Given the description of an element on the screen output the (x, y) to click on. 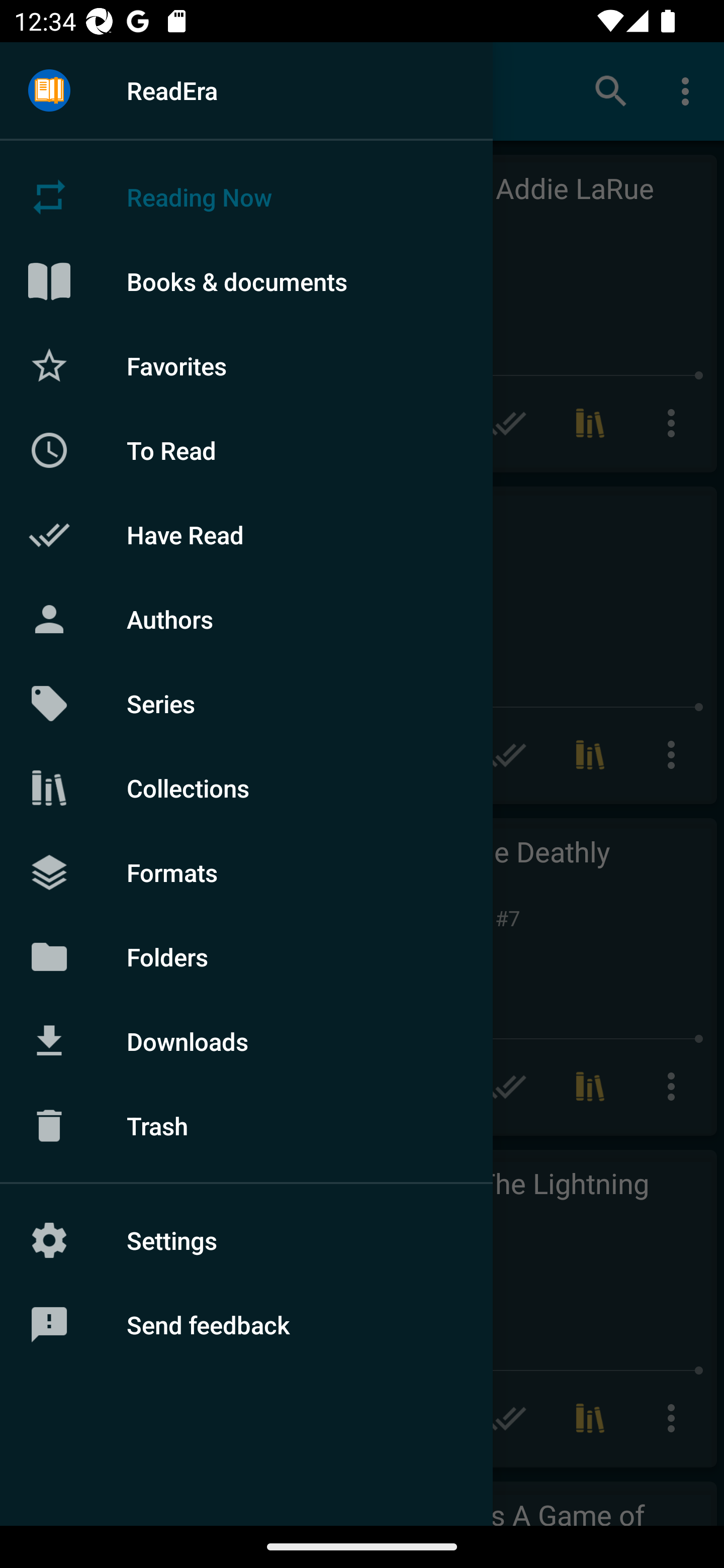
Menu (49, 91)
ReadEra (246, 89)
Search books & documents (611, 90)
More options (688, 90)
Reading Now (246, 197)
Books & documents (246, 281)
Favorites (246, 365)
To Read (246, 449)
Have Read (246, 534)
Authors (246, 619)
Series (246, 703)
Collections (246, 787)
Formats (246, 871)
Folders (246, 956)
Downloads (246, 1040)
Trash (246, 1125)
Settings (246, 1239)
Send feedback (246, 1324)
